Given the description of an element on the screen output the (x, y) to click on. 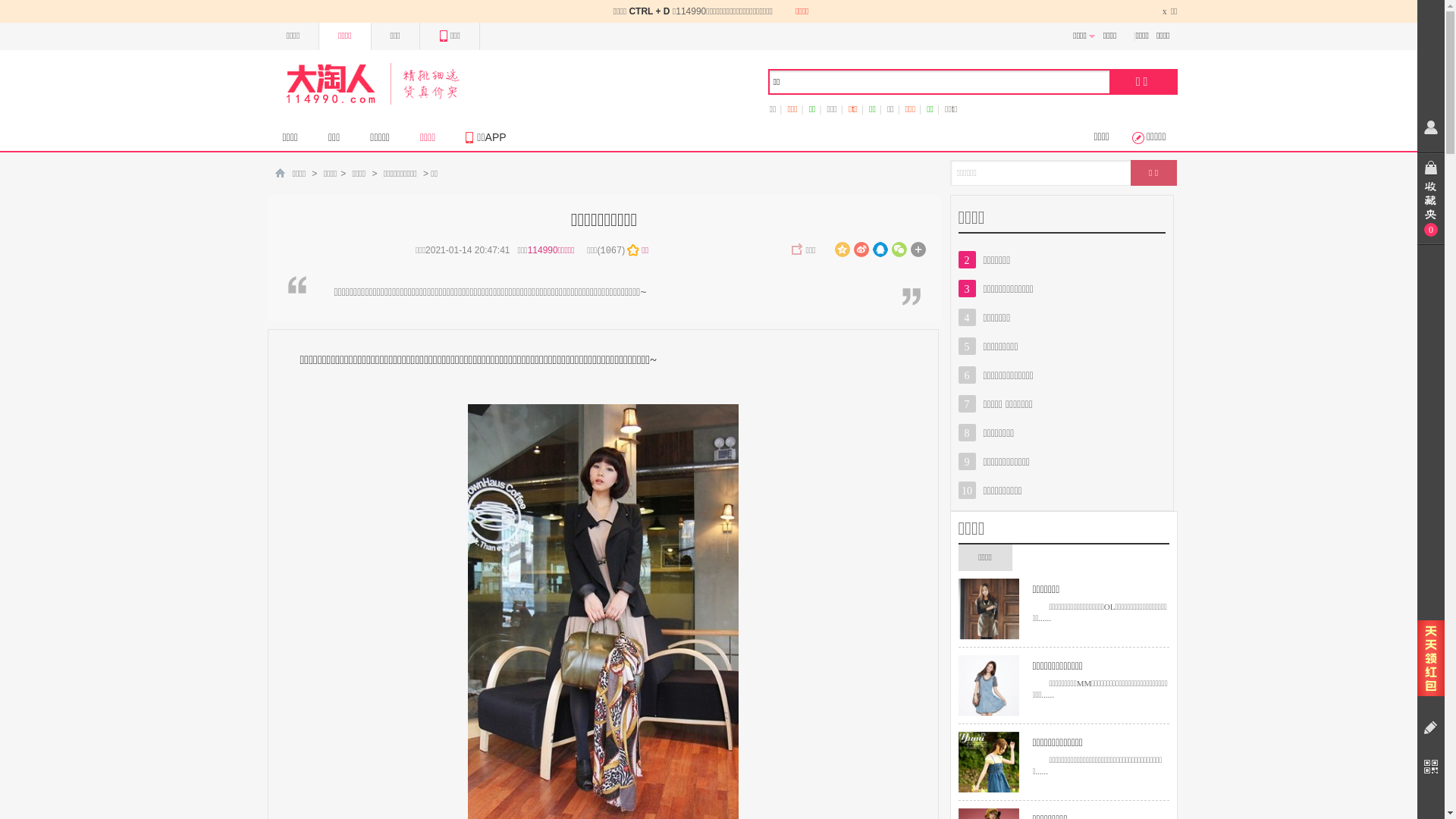
0 Element type: text (1430, 198)
